Given the description of an element on the screen output the (x, y) to click on. 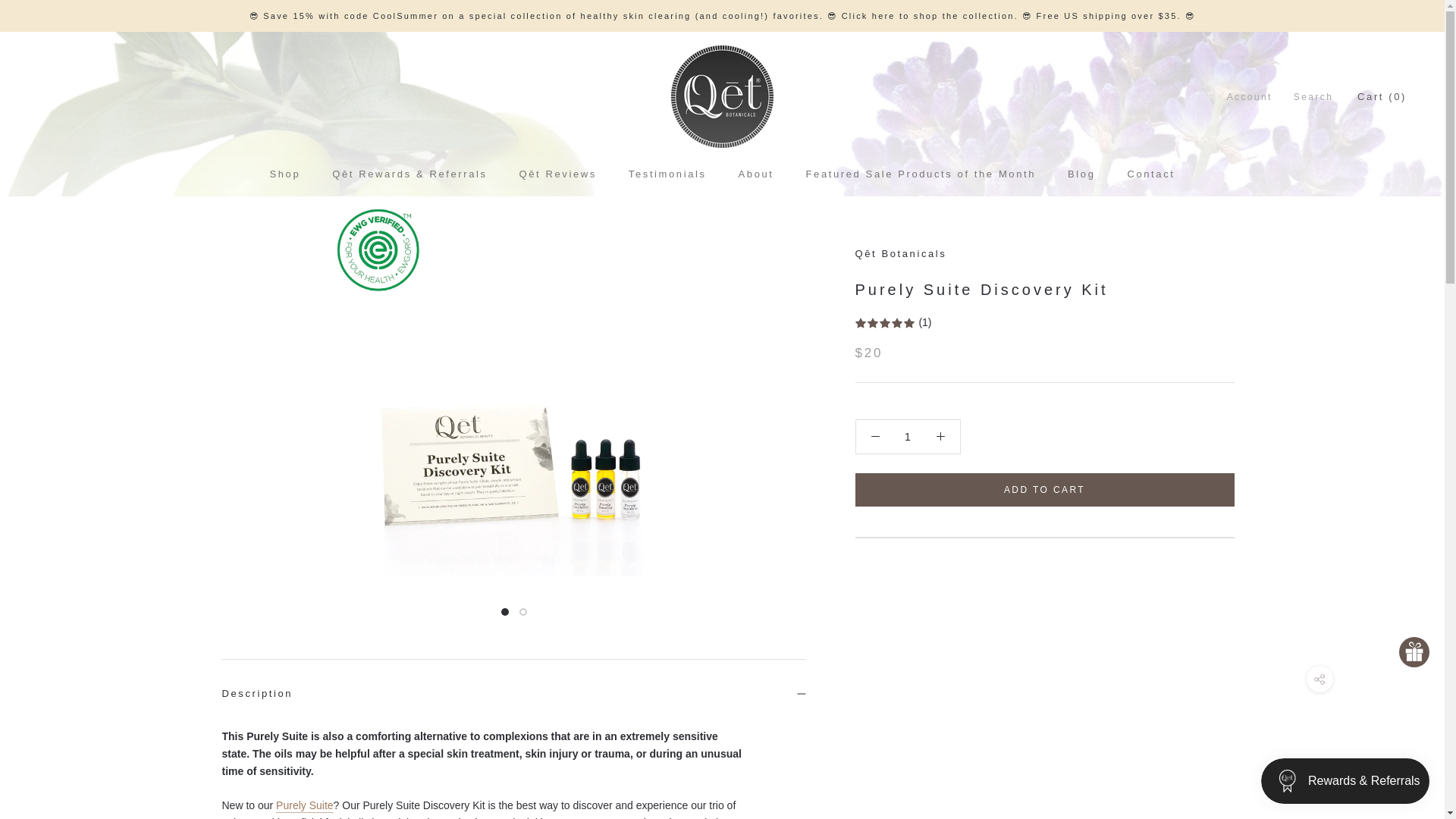
1 (1080, 173)
ADD TO CART (756, 173)
Account (285, 173)
Search (1150, 173)
Smile.io Rewards Program Launcher (908, 436)
